Given the description of an element on the screen output the (x, y) to click on. 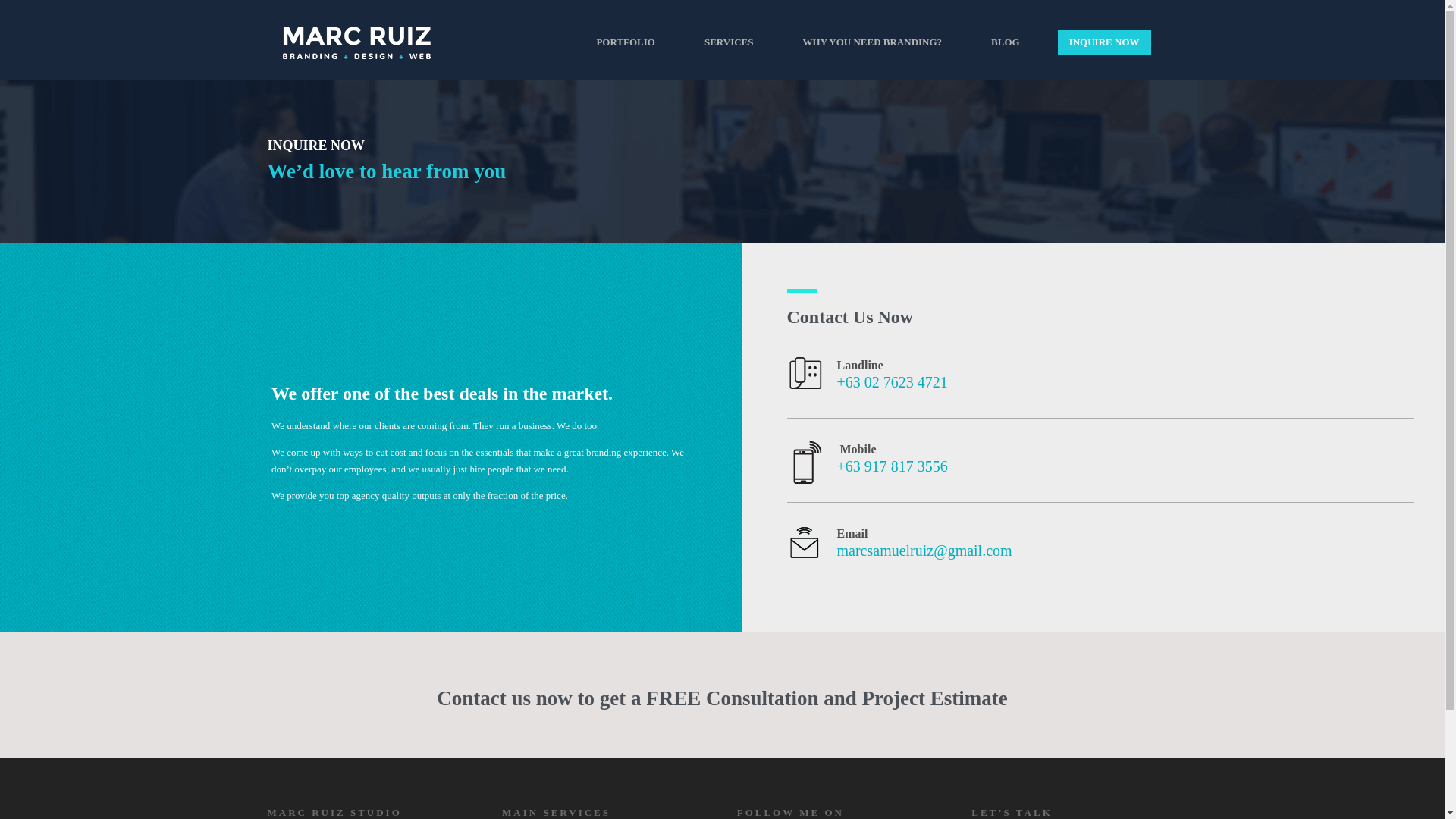
Home (1134, 40)
SERVICES (729, 42)
WHY YOU NEED BRANDING? (872, 42)
PORTFOLIO (625, 42)
INQUIRE NOW (1104, 42)
Marc Ruiz (355, 45)
BLOG (1004, 42)
